Given the description of an element on the screen output the (x, y) to click on. 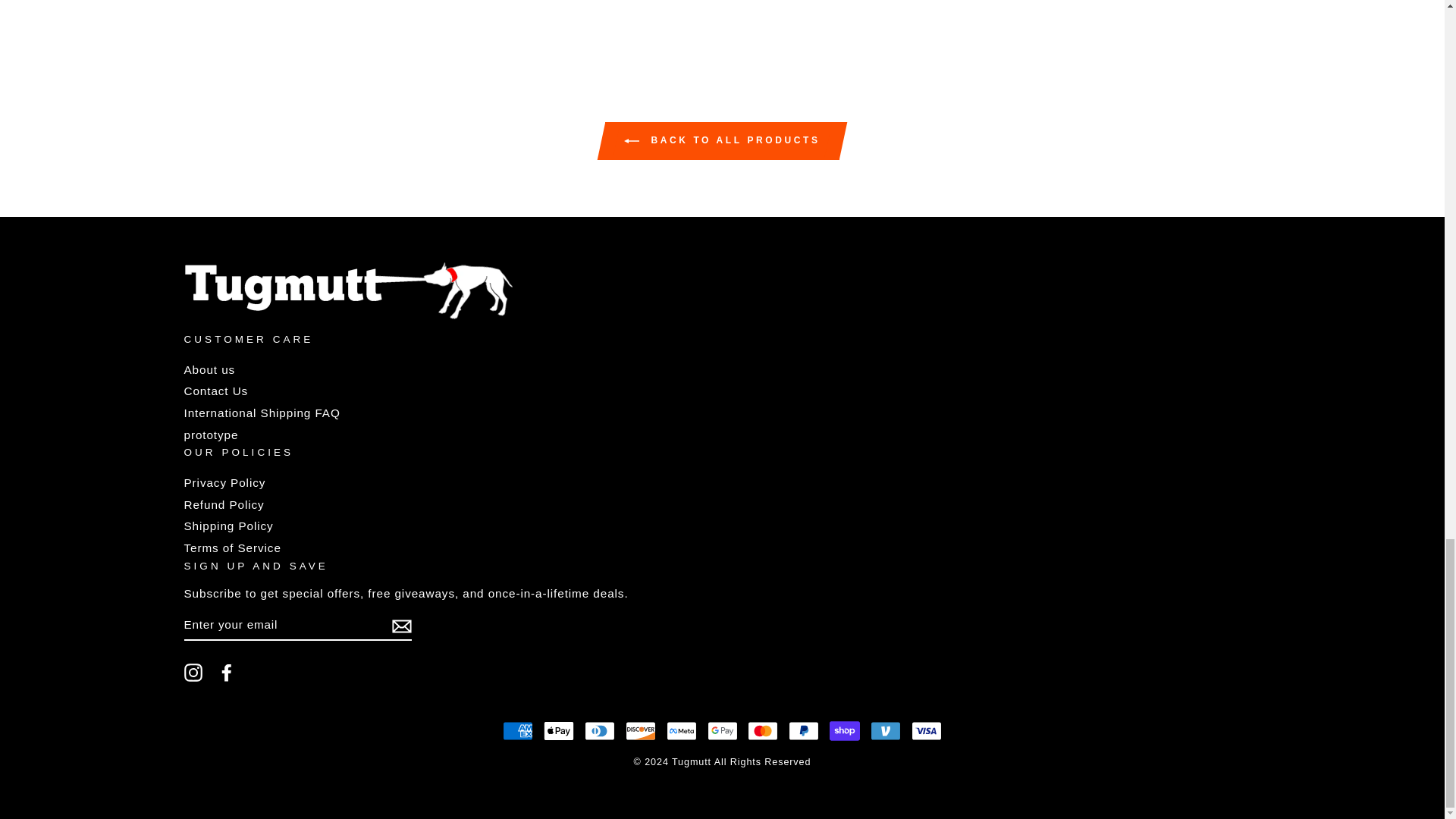
Google Pay (721, 730)
Apple Pay (558, 730)
Diners Club (599, 730)
Meta Pay (681, 730)
Tugmutt on Instagram (192, 672)
Tugmutt on Facebook (225, 672)
American Express (517, 730)
Discover (641, 730)
